Given the description of an element on the screen output the (x, y) to click on. 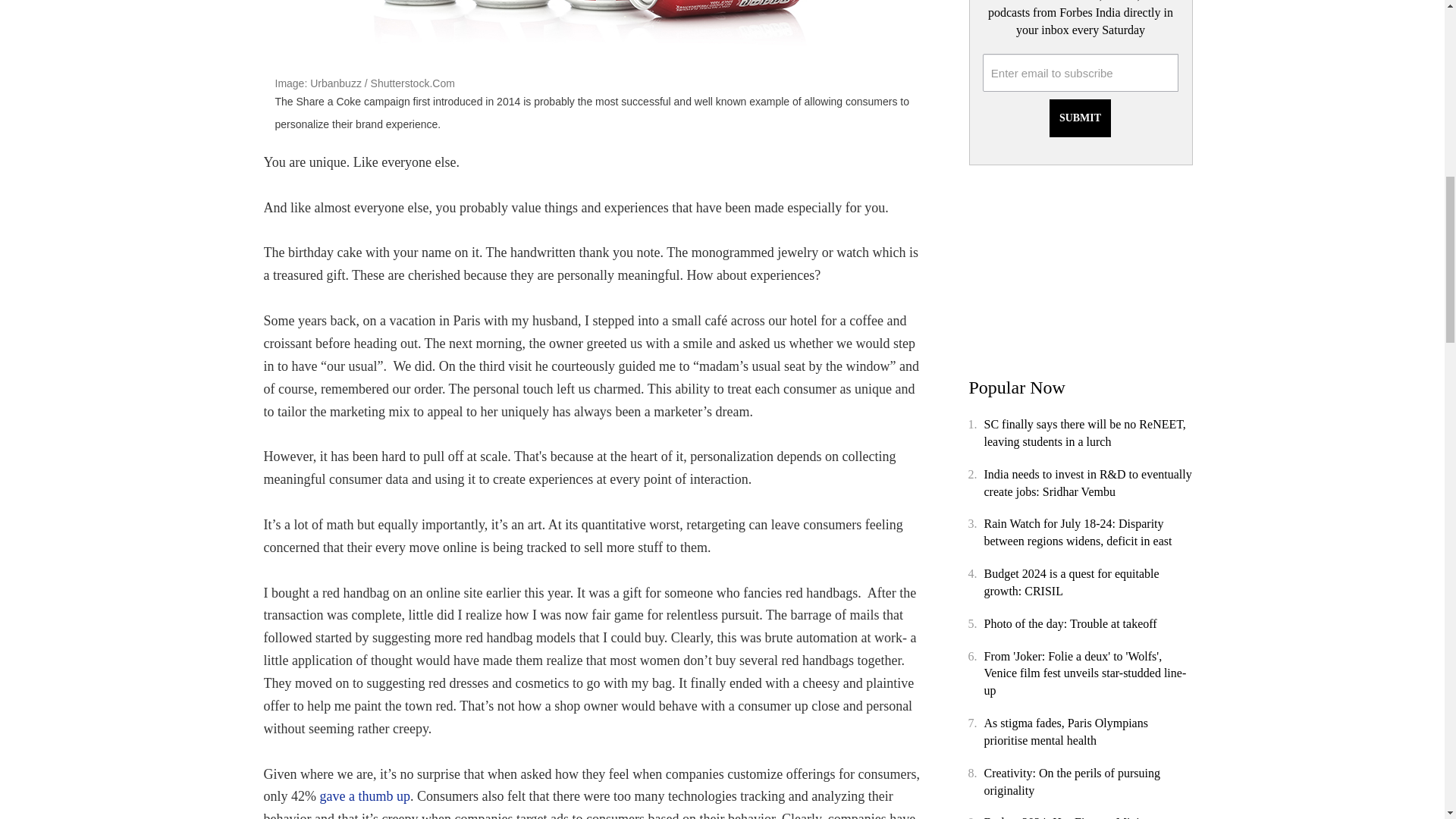
Personalisation in Marketing: How brands can get it right (593, 33)
